Given the description of an element on the screen output the (x, y) to click on. 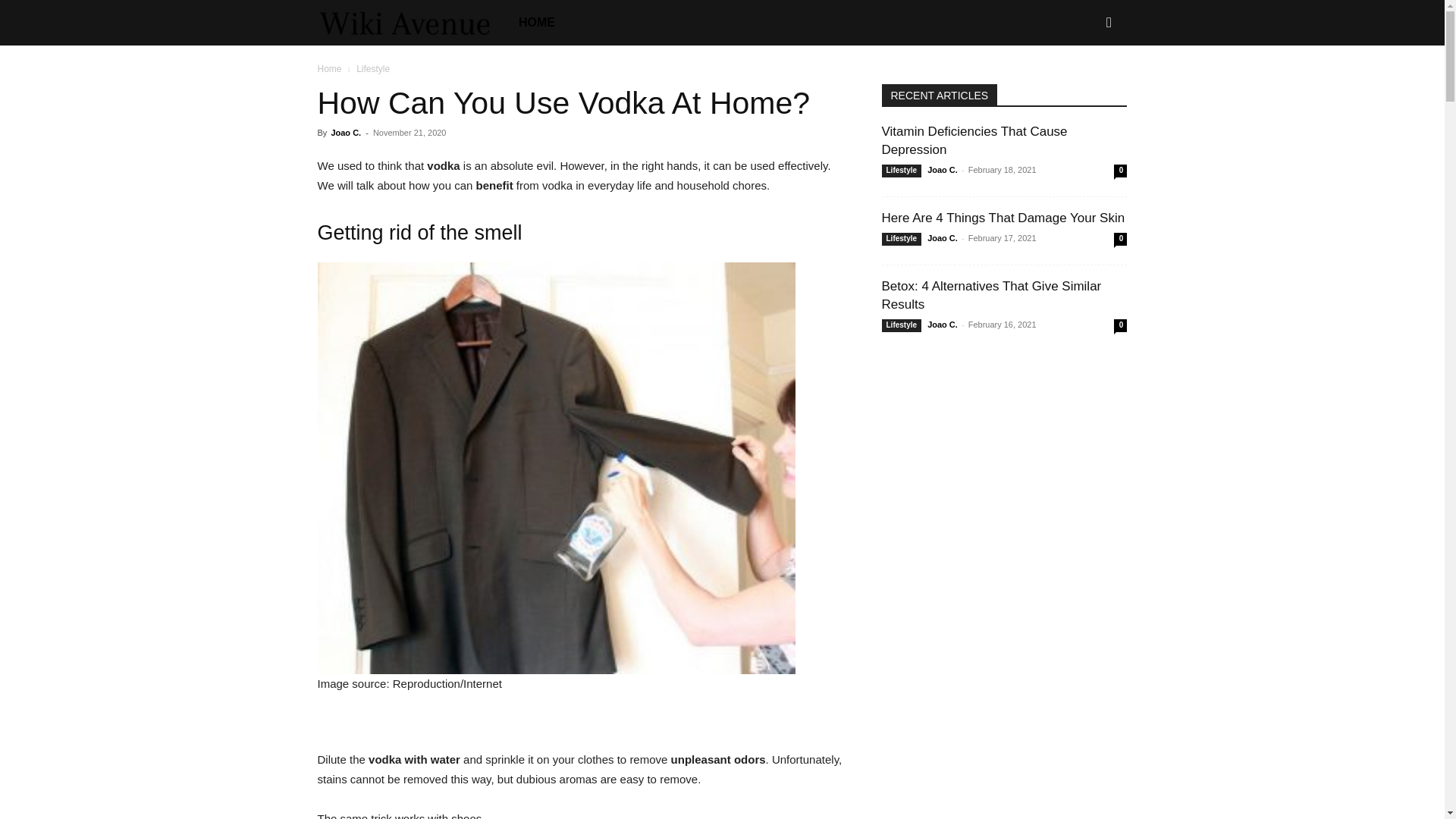
Lifestyle (900, 170)
Joao C. (345, 132)
Search (1085, 87)
Home (328, 68)
Vitamin Deficiencies That Cause Depression (973, 140)
Betox: 4 Alternatives That Give Similar Results (990, 295)
Here Are 4 Things That Damage Your Skin (1002, 217)
Here Are 4 Things That Damage Your Skin (1002, 217)
Wiki Avenue (411, 22)
Vitamin Deficiencies That Cause Depression (973, 140)
Joao C. (942, 169)
0 (1119, 170)
HOME (537, 22)
Lifestyle (900, 238)
